Given the description of an element on the screen output the (x, y) to click on. 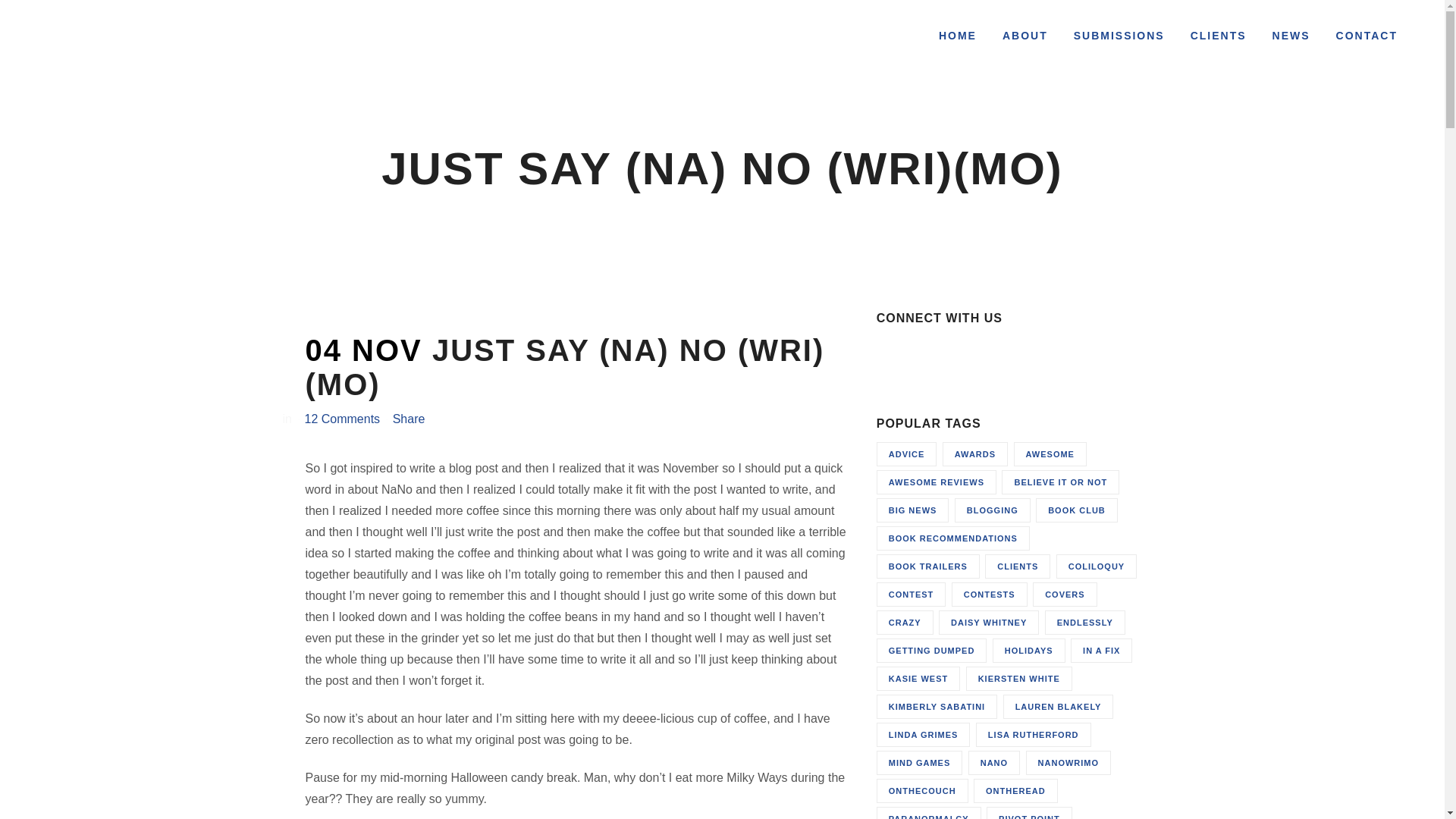
SUBMISSIONS (1119, 36)
CONTACT (1366, 36)
CLIENTS (1218, 36)
ABOUT (1025, 36)
Share (409, 418)
12 Comments (342, 418)
